Given the description of an element on the screen output the (x, y) to click on. 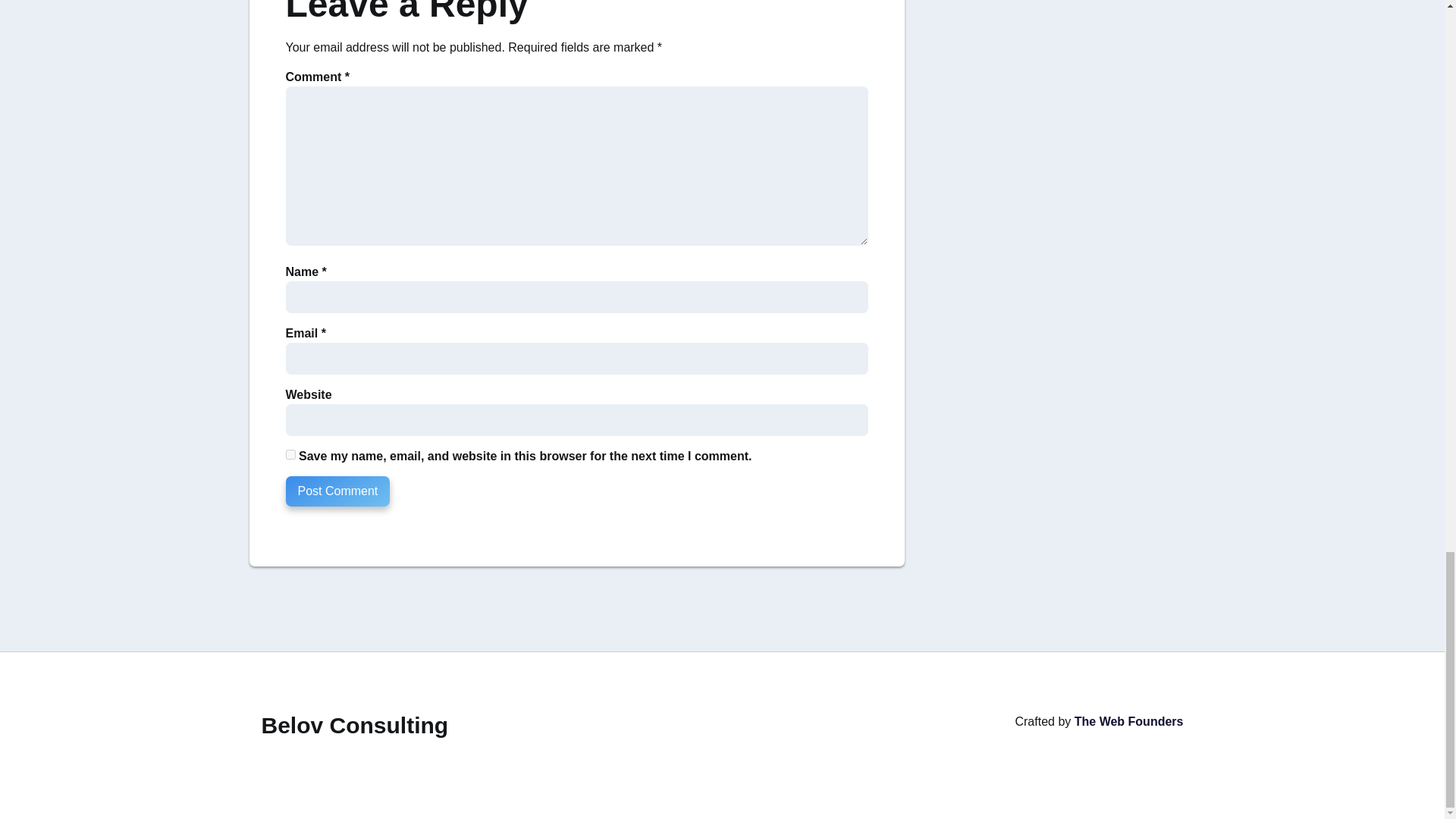
yes (290, 454)
Post Comment (337, 490)
